Given the description of an element on the screen output the (x, y) to click on. 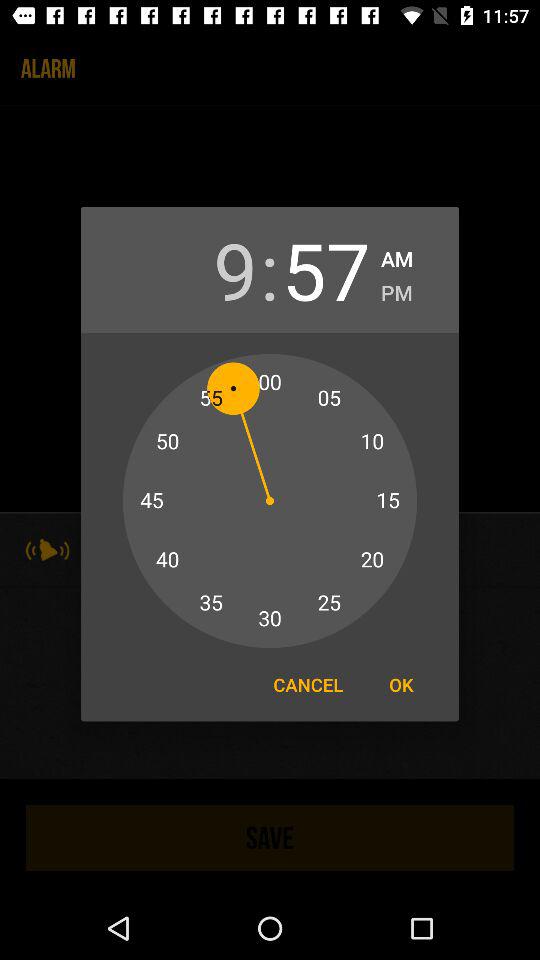
tap icon to the right of 57 item (396, 289)
